Given the description of an element on the screen output the (x, y) to click on. 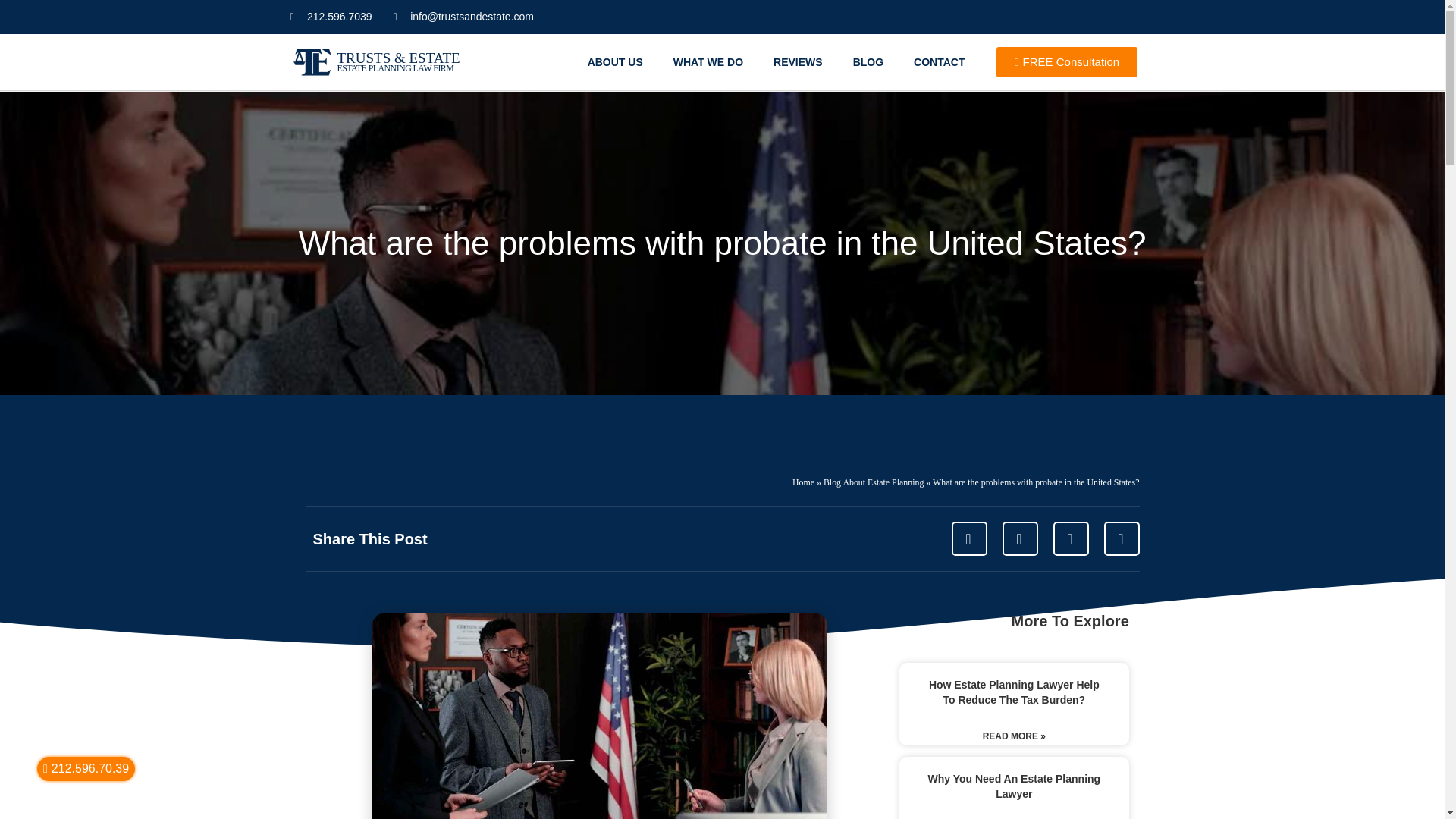
Why You Need An Estate Planning Lawyer (1013, 786)
Blog About Estate Planning (873, 481)
212.596.70.39 (86, 768)
REVIEWS (798, 61)
Home (802, 481)
How Estate Planning Lawyer Help To Reduce The Tax Burden? (1013, 691)
212.596.7039 (330, 16)
ABOUT US (615, 61)
CONTACT (938, 61)
WHAT WE DO (708, 61)
FREE Consultation (1066, 61)
ESTATE PLANNING LAW FIRM (394, 67)
BLOG (868, 61)
